Given the description of an element on the screen output the (x, y) to click on. 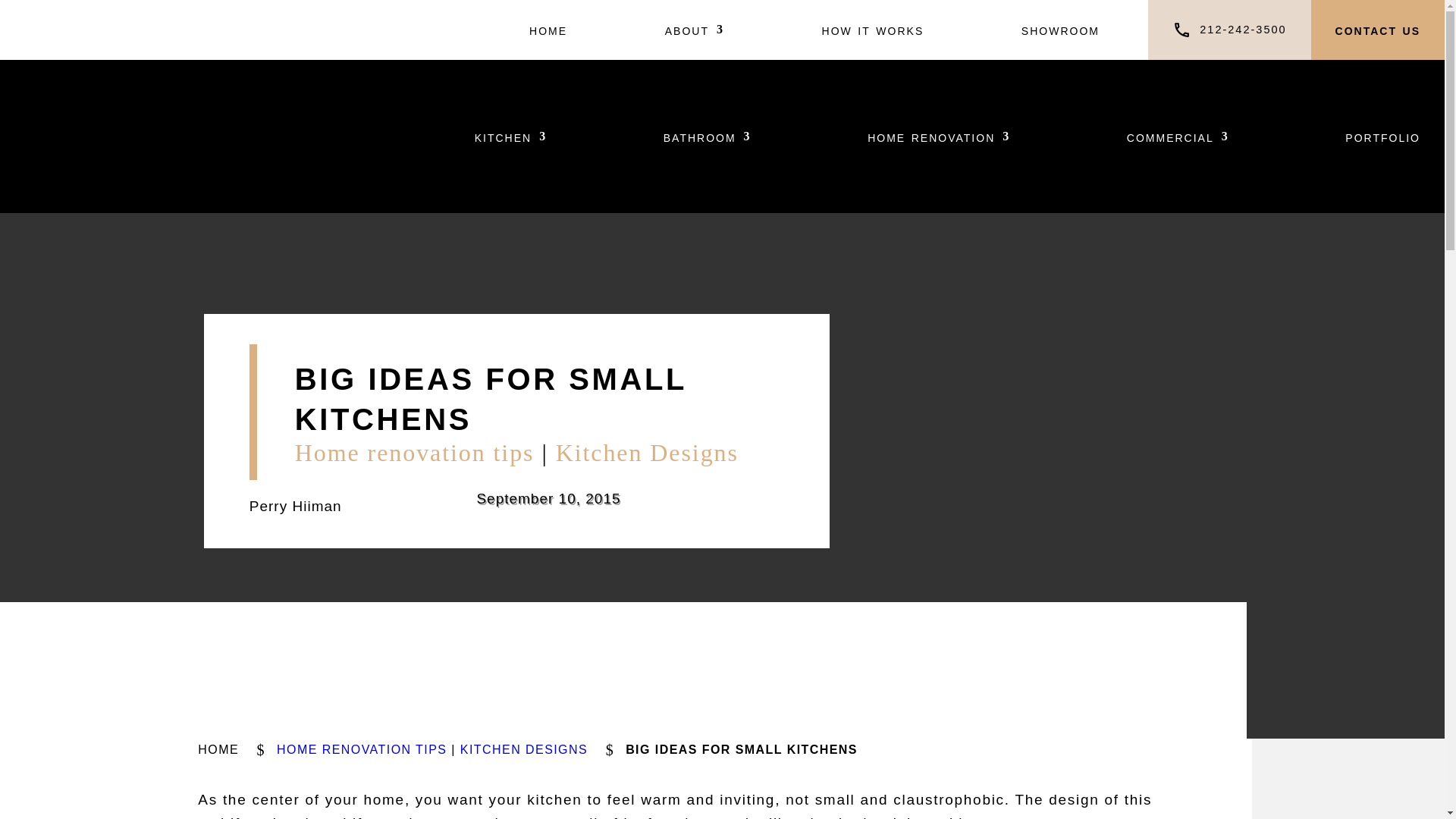
212-242-3500 (1242, 29)
portfolio (1383, 136)
bathroom (707, 136)
kitchen (510, 136)
showroom (1060, 29)
how it works (873, 29)
about (694, 29)
home (548, 29)
commercial (1177, 136)
home renovation (938, 136)
